Given the description of an element on the screen output the (x, y) to click on. 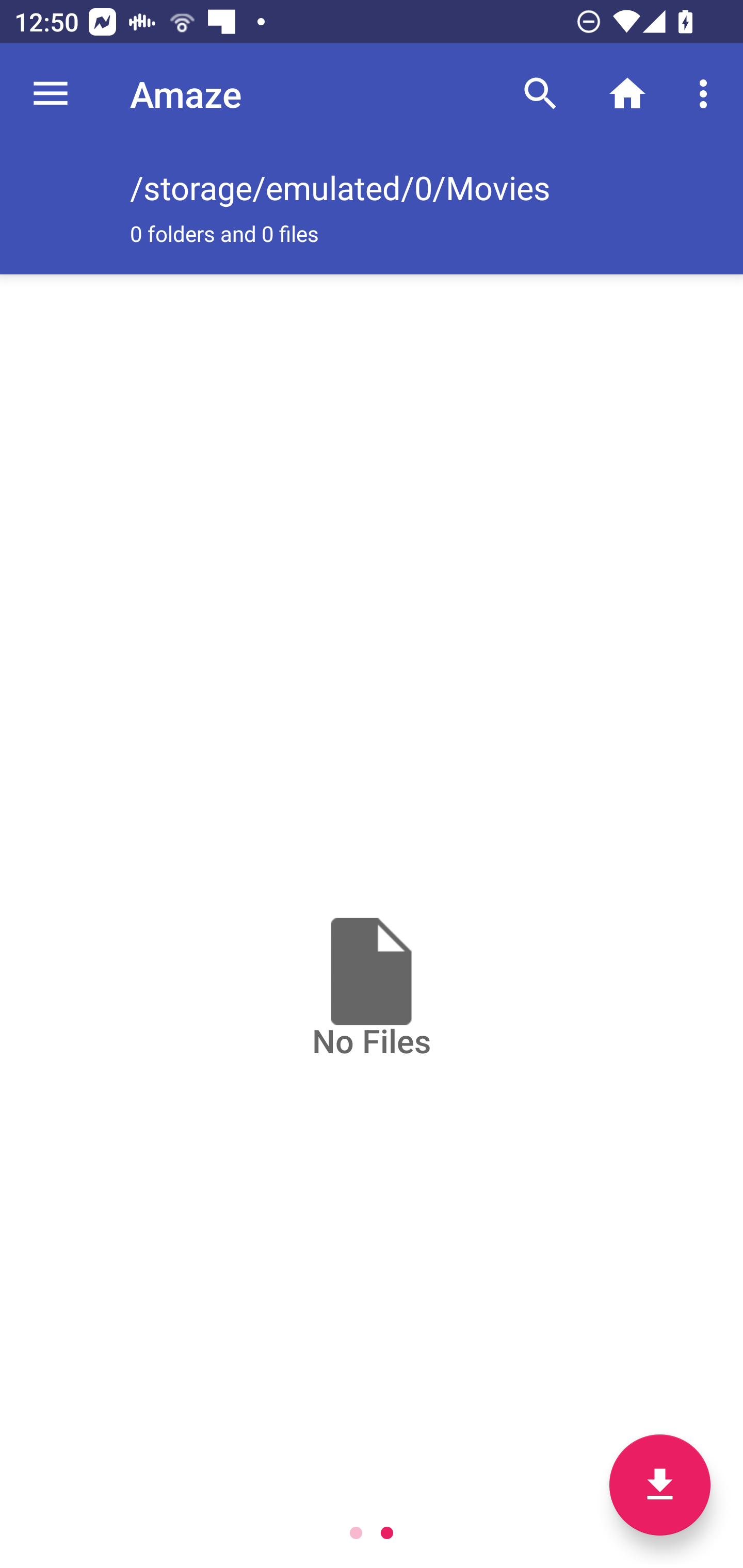
Navigate up (50, 93)
Search (540, 93)
Home (626, 93)
More options (706, 93)
